Given the description of an element on the screen output the (x, y) to click on. 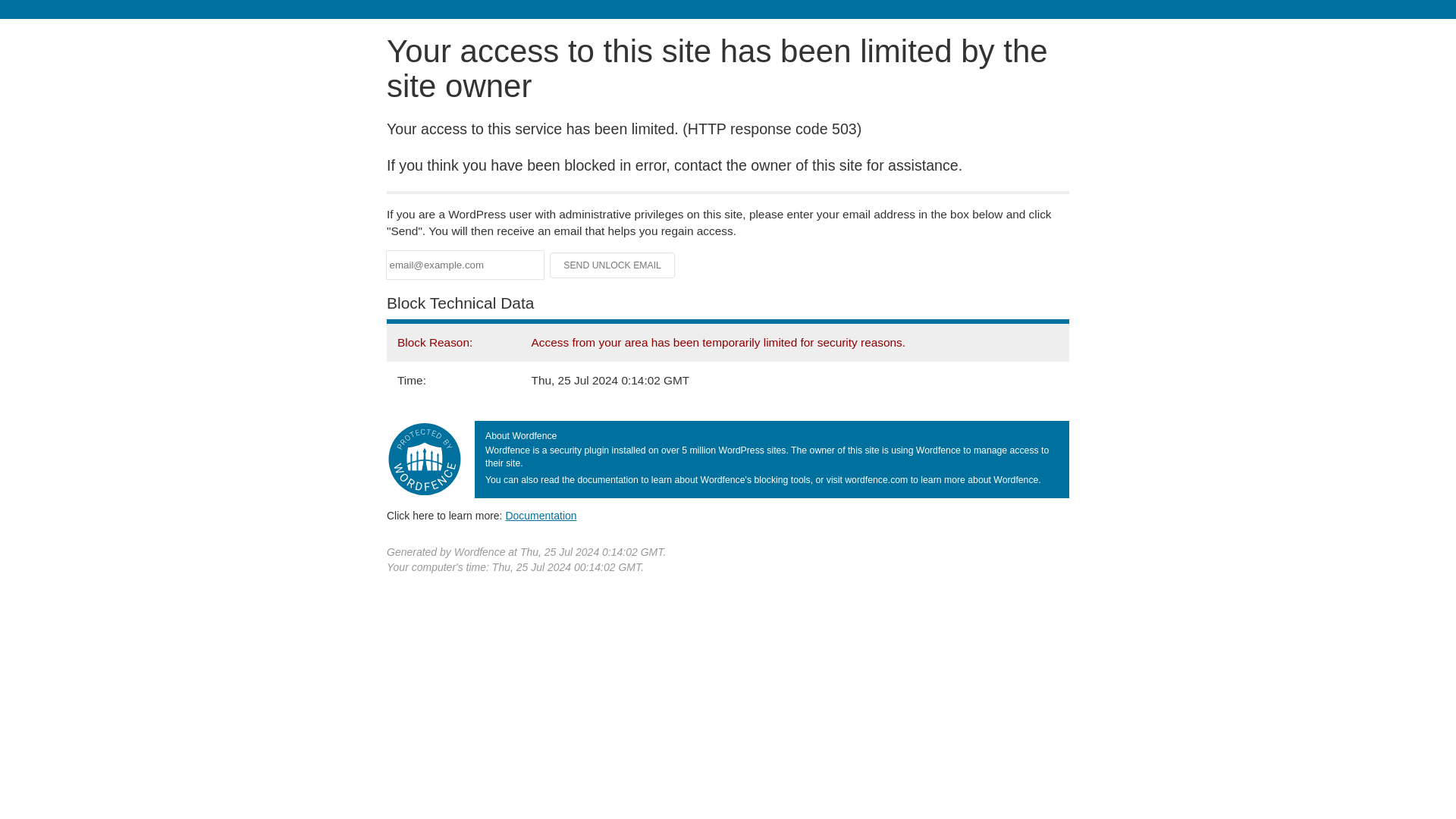
Documentation (540, 515)
Send Unlock Email (612, 265)
Send Unlock Email (612, 265)
